Given the description of an element on the screen output the (x, y) to click on. 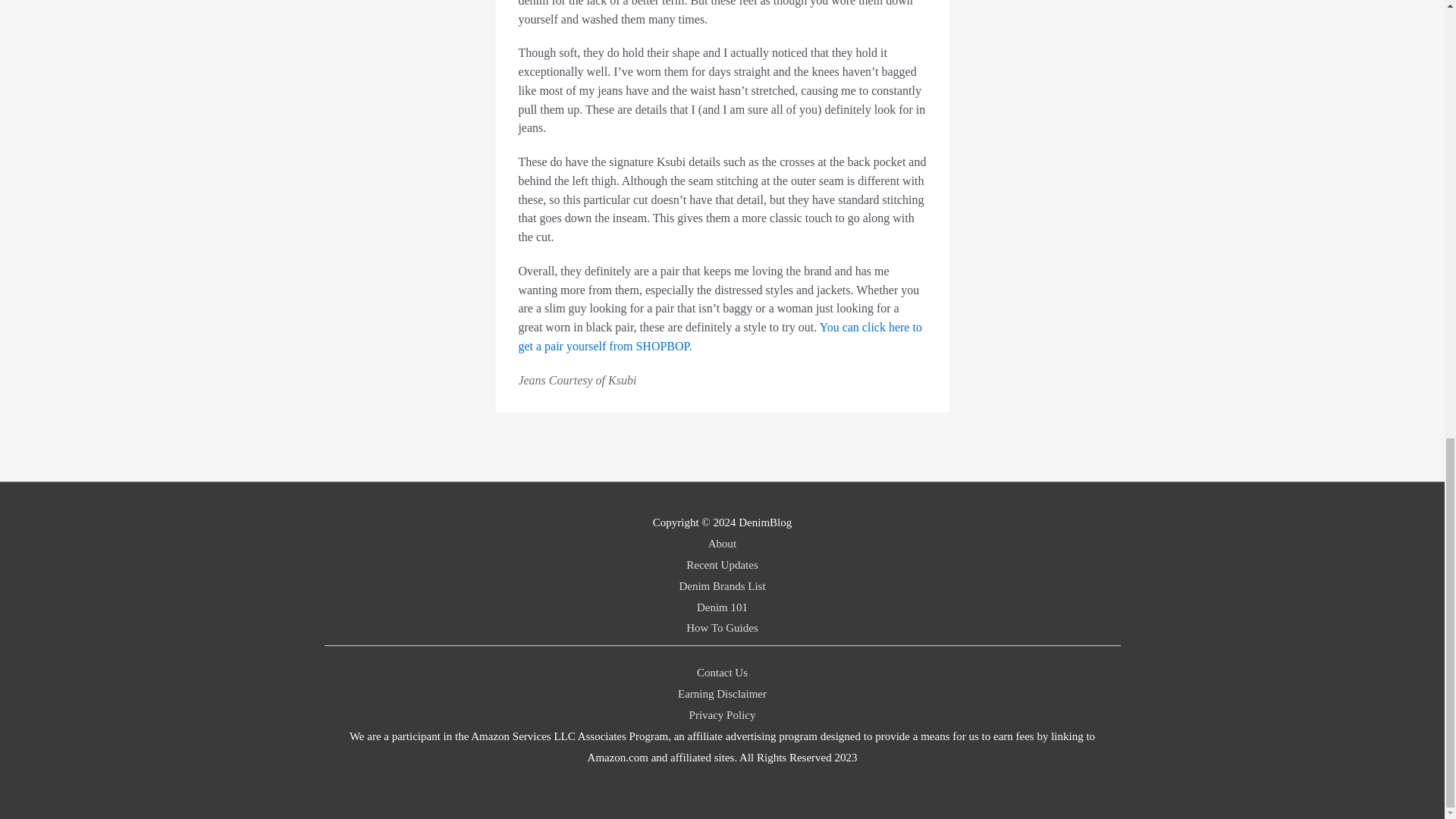
How To Guides (721, 627)
Denim 101 (722, 607)
Earning Disclaimer (722, 693)
Denim Brands List (721, 585)
About (721, 543)
Contact Us (722, 672)
You can click here to get a pair yourself from SHOPBOP. (719, 336)
Recent Updates (721, 564)
Privacy Policy (721, 715)
